Given the description of an element on the screen output the (x, y) to click on. 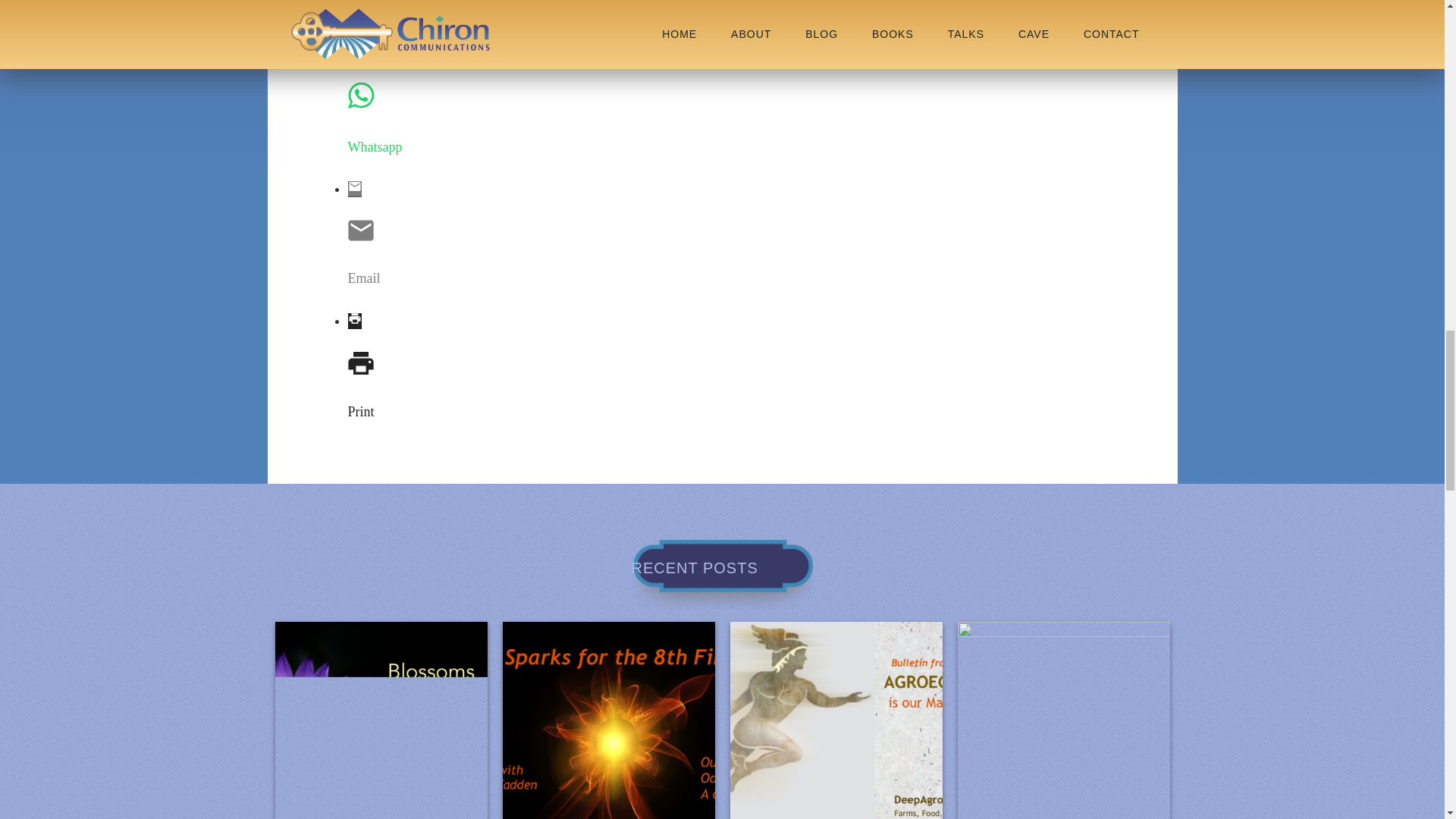
Print (376, 412)
Telegram (376, 10)
Whatsapp (376, 147)
Email (376, 278)
